Given the description of an element on the screen output the (x, y) to click on. 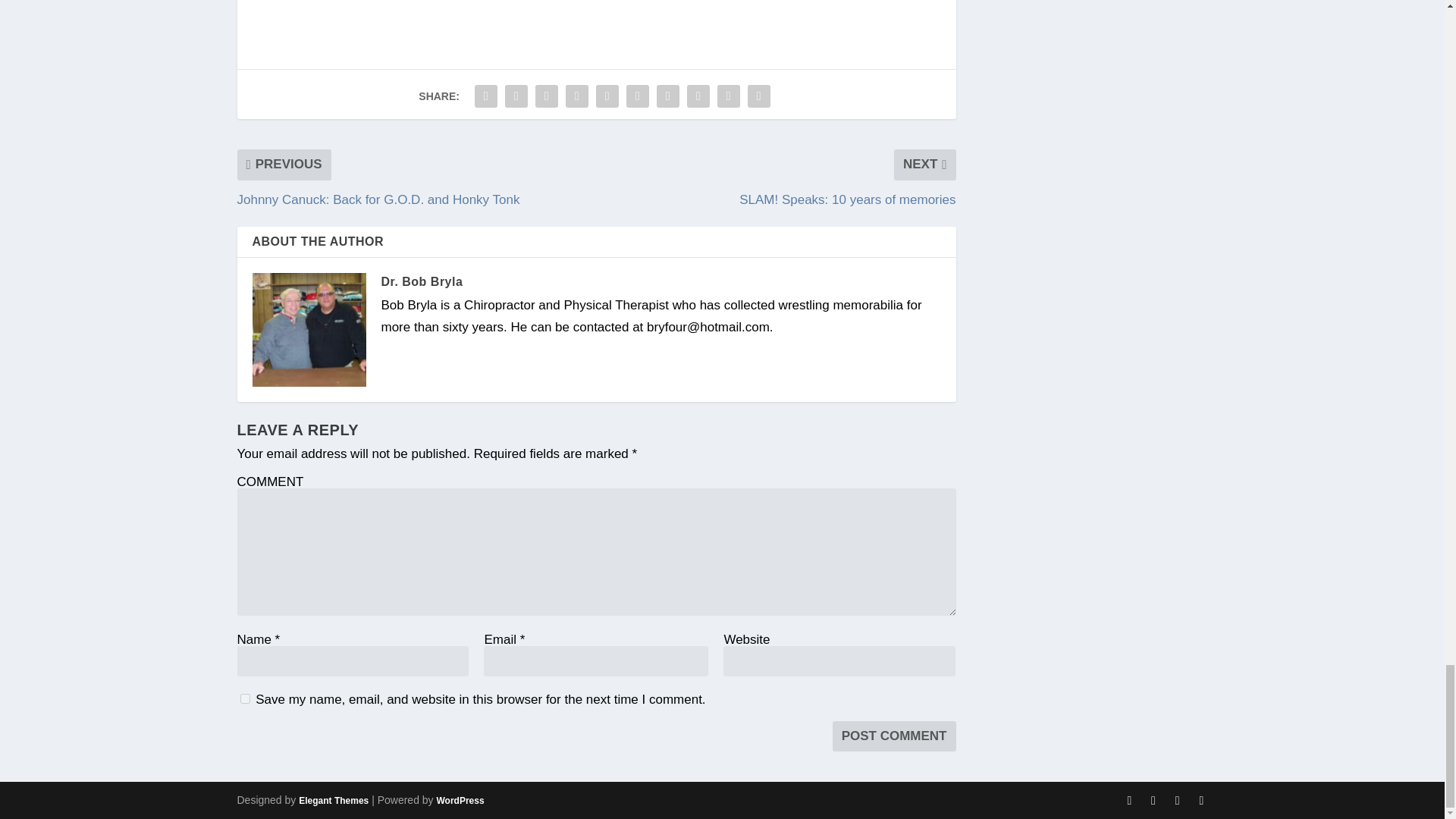
View all posts by Dr. Bob Bryla (421, 281)
Share "PWHF announces 2007 induction class" via Pinterest (607, 96)
Share "PWHF announces 2007 induction class" via LinkedIn (637, 96)
yes (244, 698)
Share "PWHF announces 2007 induction class" via Print (759, 96)
Share "PWHF announces 2007 induction class" via Buffer (667, 96)
Post Comment (894, 736)
Share "PWHF announces 2007 induction class" via Twitter (515, 96)
Dr. Bob Bryla (421, 281)
Share "PWHF announces 2007 induction class" via Tumblr (577, 96)
